Given the description of an element on the screen output the (x, y) to click on. 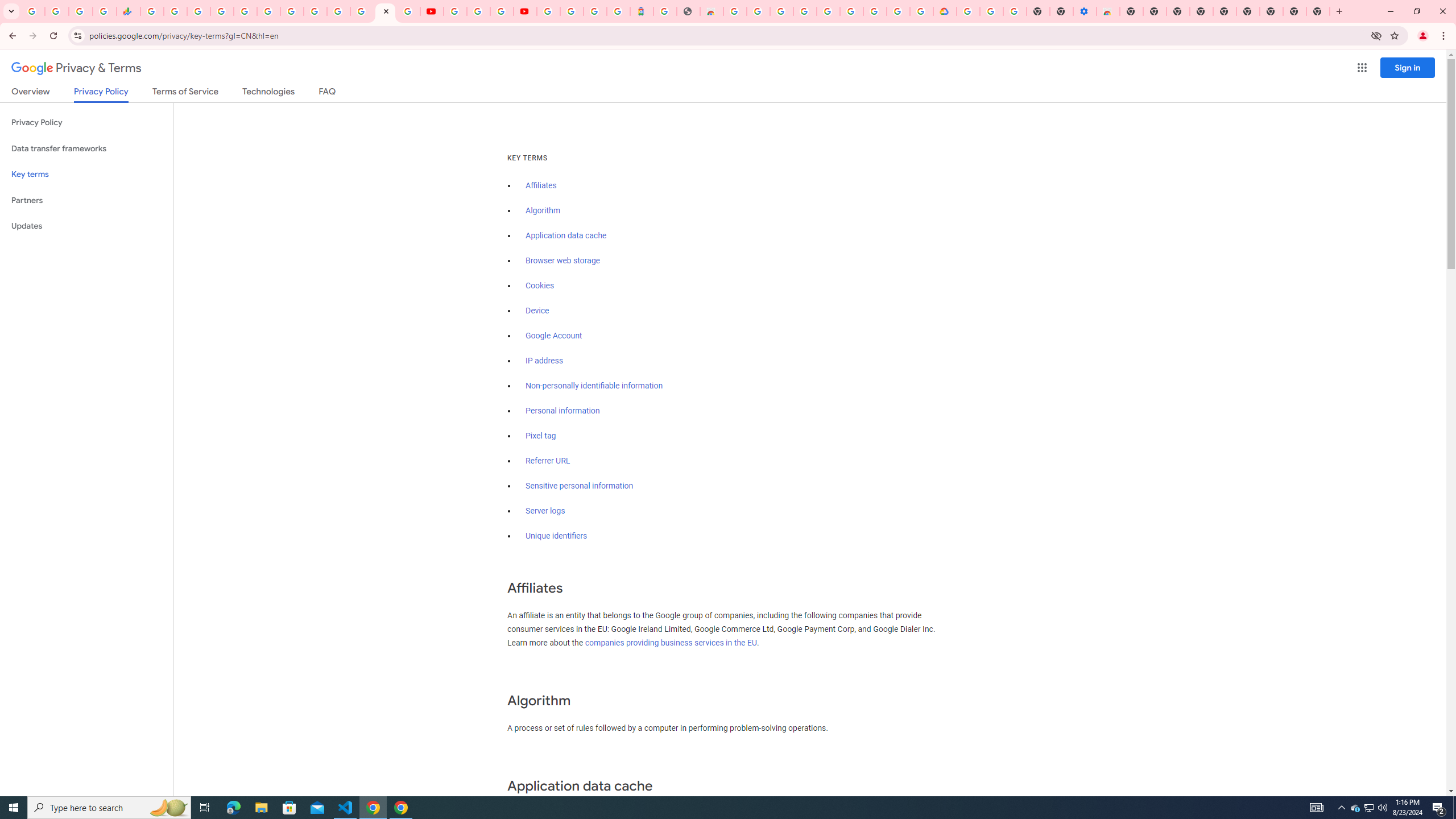
Algorithm (542, 210)
Settings - Accessibility (1085, 11)
Updates (86, 225)
Cookies (539, 285)
Google Account Help (992, 11)
Ad Settings (804, 11)
Google Workspace Admin Community (32, 11)
Sign in - Google Accounts (827, 11)
Sign in - Google Accounts (221, 11)
Referrer URL (547, 461)
Unique identifiers (556, 536)
